Given the description of an element on the screen output the (x, y) to click on. 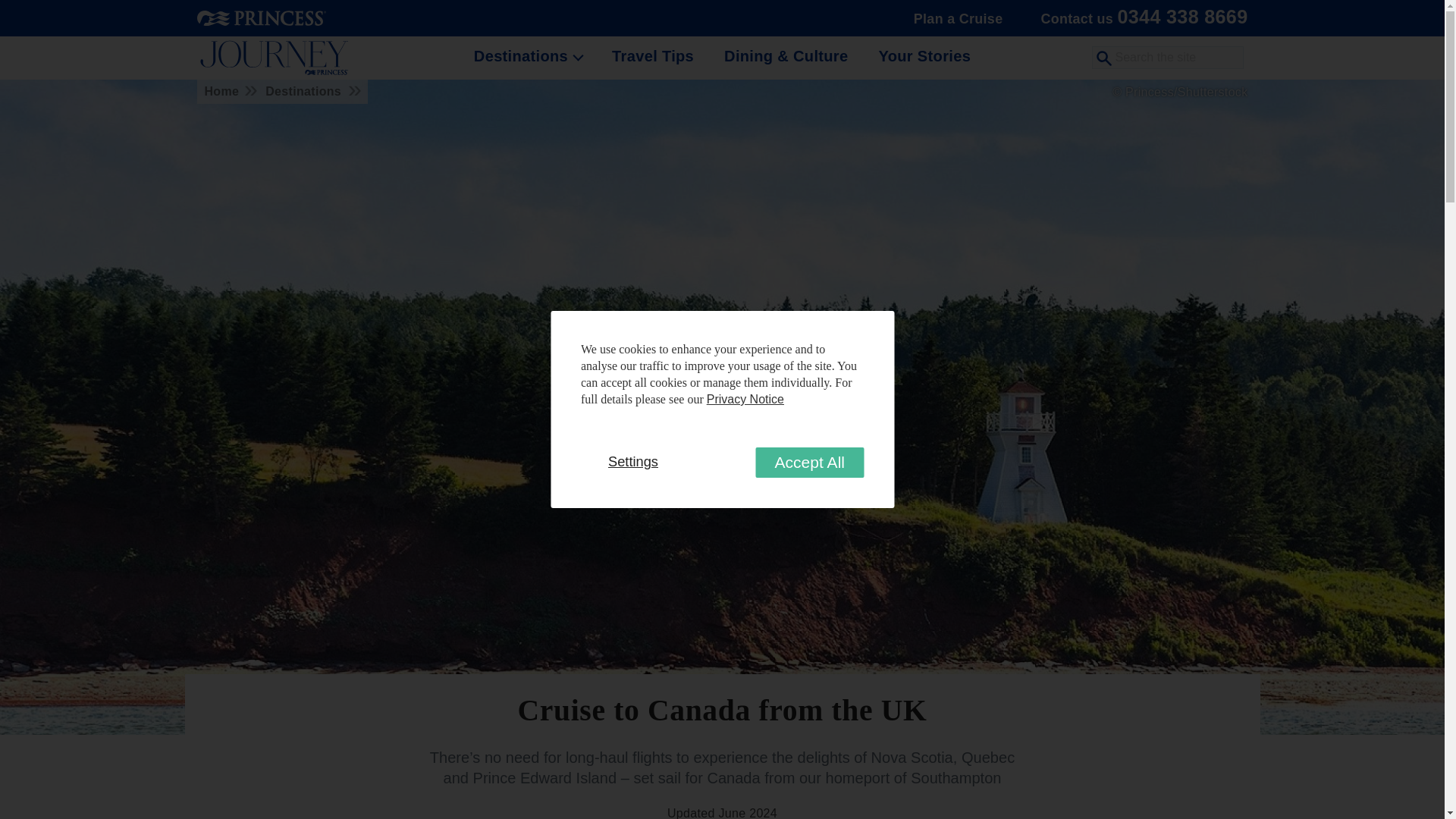
Destinations (524, 55)
Settings (633, 461)
Accept All (809, 462)
Your Stories (924, 55)
Privacy Notice (745, 399)
Home (227, 91)
Accept All (809, 462)
Settings (633, 461)
Travel Tips (652, 55)
Plan a Cruise (957, 18)
Contact us 0344 338 8669 (1139, 18)
Destinations (308, 91)
